Given the description of an element on the screen output the (x, y) to click on. 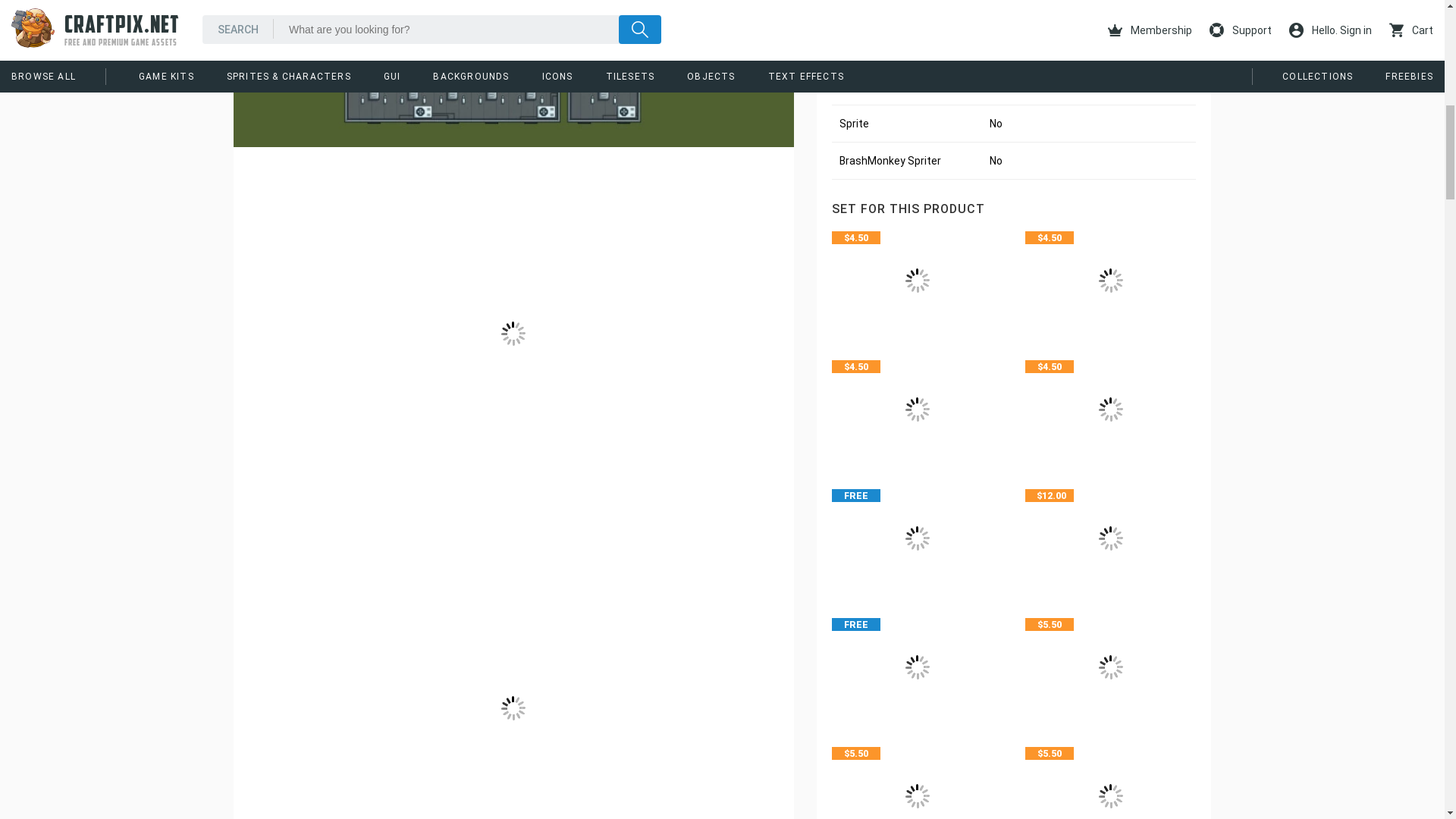
Top Down Trucks and Cars Pixel Art Asset Pack (1110, 666)
Free TDS Modern: GUI Pixel Art (917, 538)
TDS Modern: Pixel Game Kit (1110, 538)
Top Down Soldier Sprites Pixel Art (1110, 779)
TDS Modern: Tilesets and Environment (1110, 409)
Top Down Tank Sprites Pixel Art (917, 779)
Free Top Down Military Boats Pixel Art (917, 666)
TDS Modern: Soldiers And Vehicles Sprites 2 (1110, 280)
TDS Modern: Soldiers And Vehicles Sprites (917, 280)
TDS Modern: Hero, Weapons and Props (917, 409)
